Given the description of an element on the screen output the (x, y) to click on. 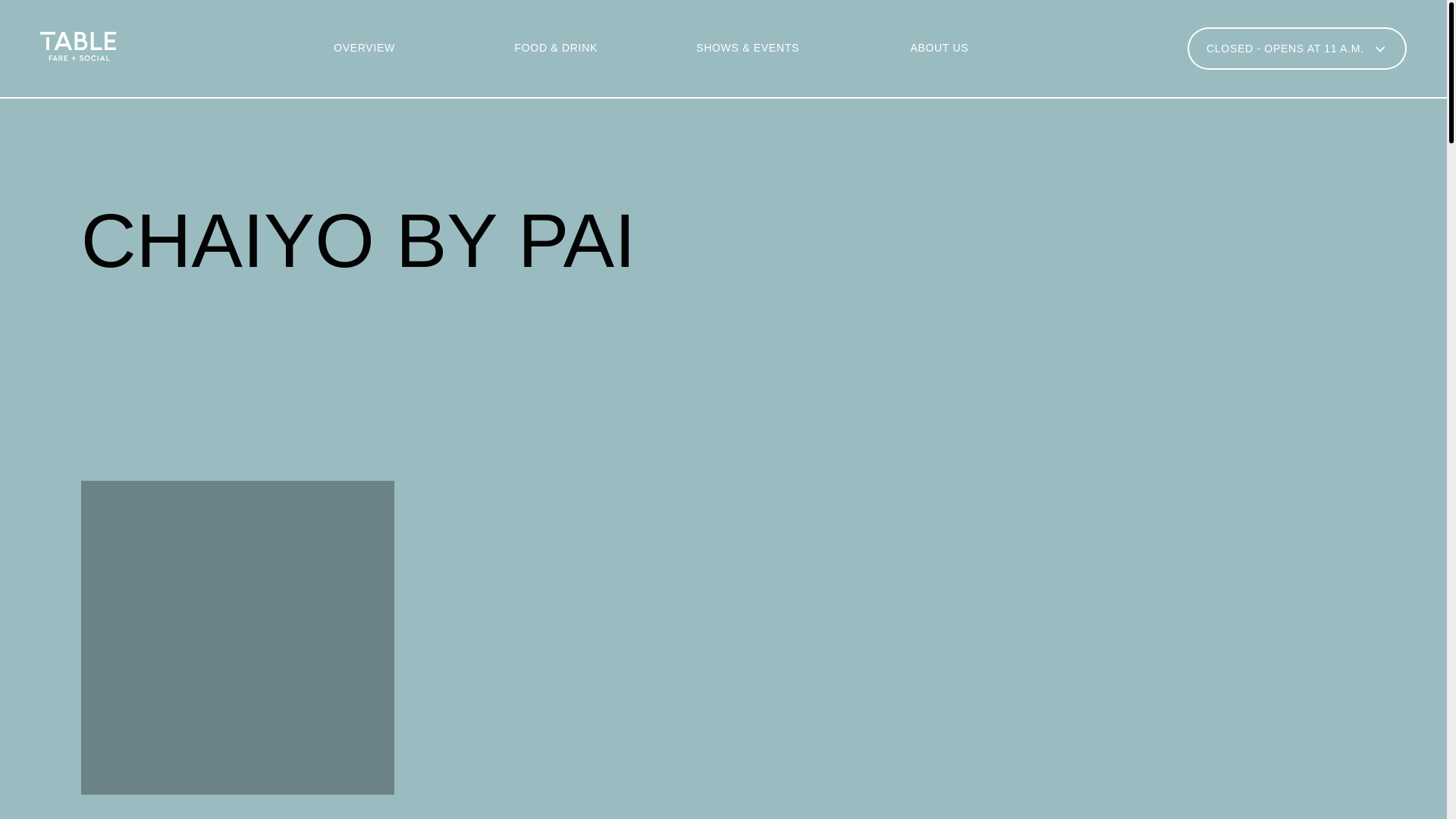
Skip to main content (3, 15)
Privacy Policy (1018, 768)
ABOUT US (938, 48)
OVERVIEW (189, 229)
